Given the description of an element on the screen output the (x, y) to click on. 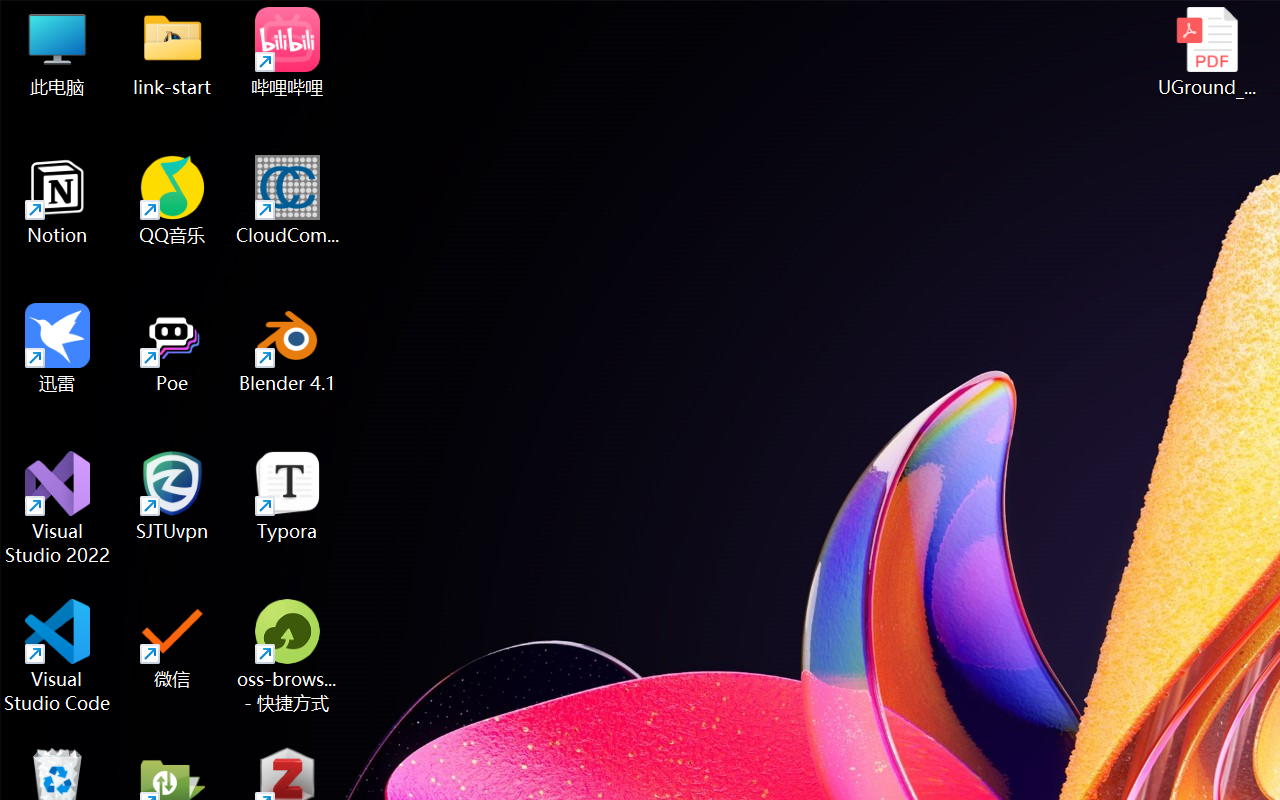
Typora (287, 496)
CloudCompare (287, 200)
Visual Studio 2022 (57, 508)
UGround_paper.pdf (1206, 52)
Visual Studio Code (57, 656)
Blender 4.1 (287, 348)
SJTUvpn (172, 496)
